Given the description of an element on the screen output the (x, y) to click on. 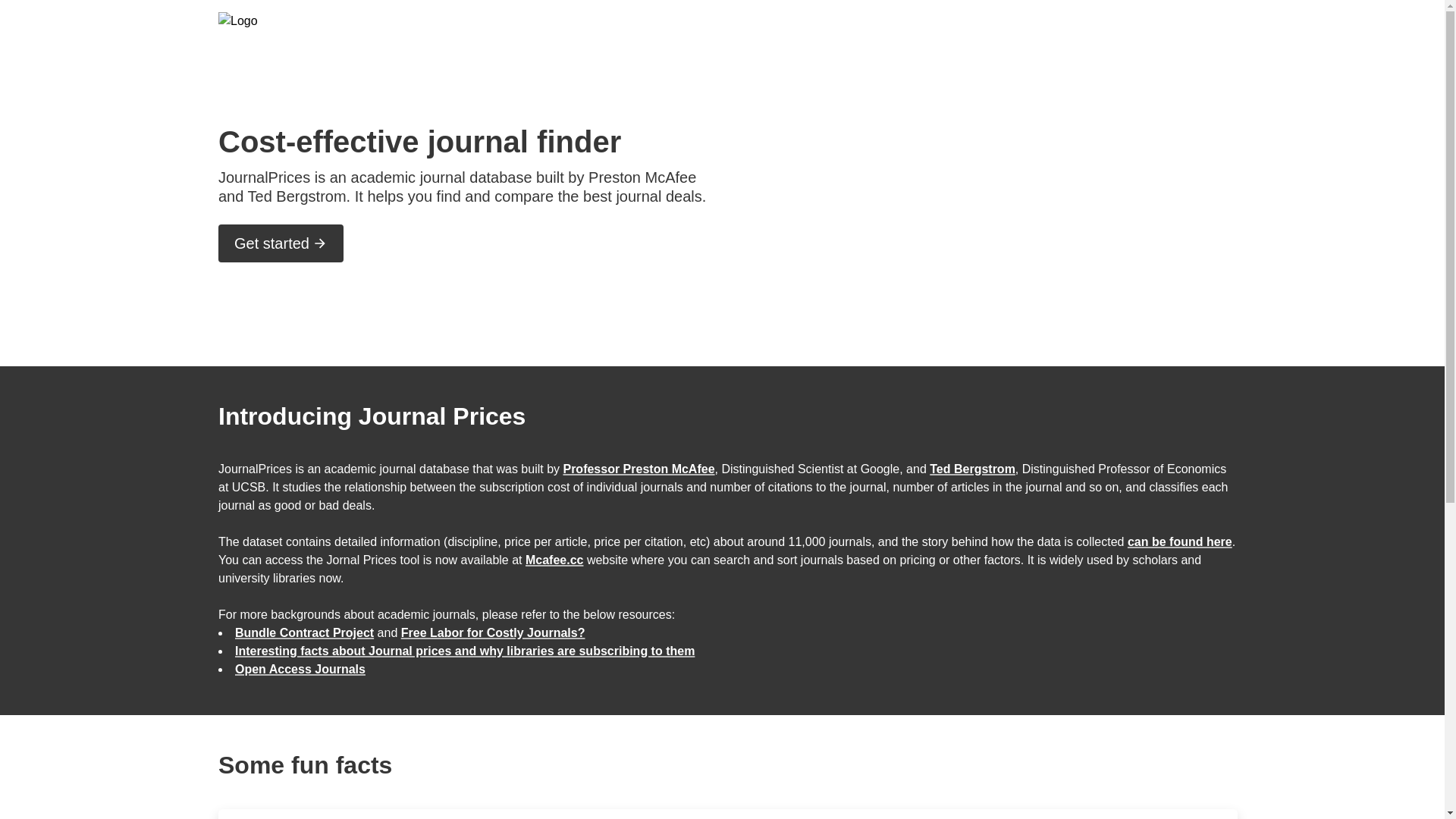
Ted Bergstrom (972, 468)
Get started (280, 232)
Professor Preston McAfee (638, 468)
Mcafee.cc (554, 559)
Bundle Contract Project (304, 632)
Open Access Journals (299, 668)
Free Labor for Costly Journals? (493, 632)
can be found here (1178, 541)
Get started (280, 243)
